Given the description of an element on the screen output the (x, y) to click on. 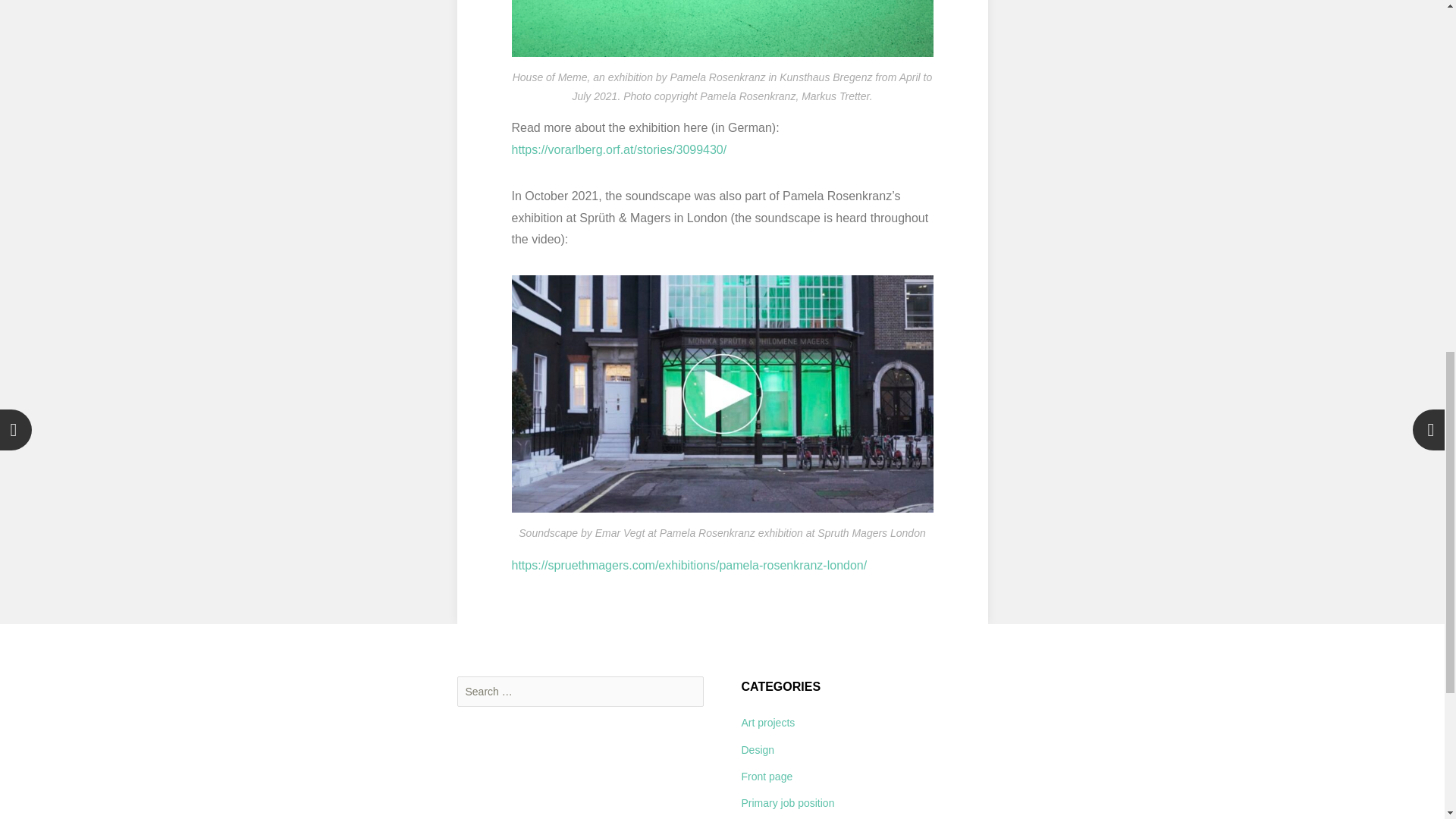
Design (757, 749)
Front page (767, 776)
Primary job position (787, 802)
Art projects (767, 722)
